Given the description of an element on the screen output the (x, y) to click on. 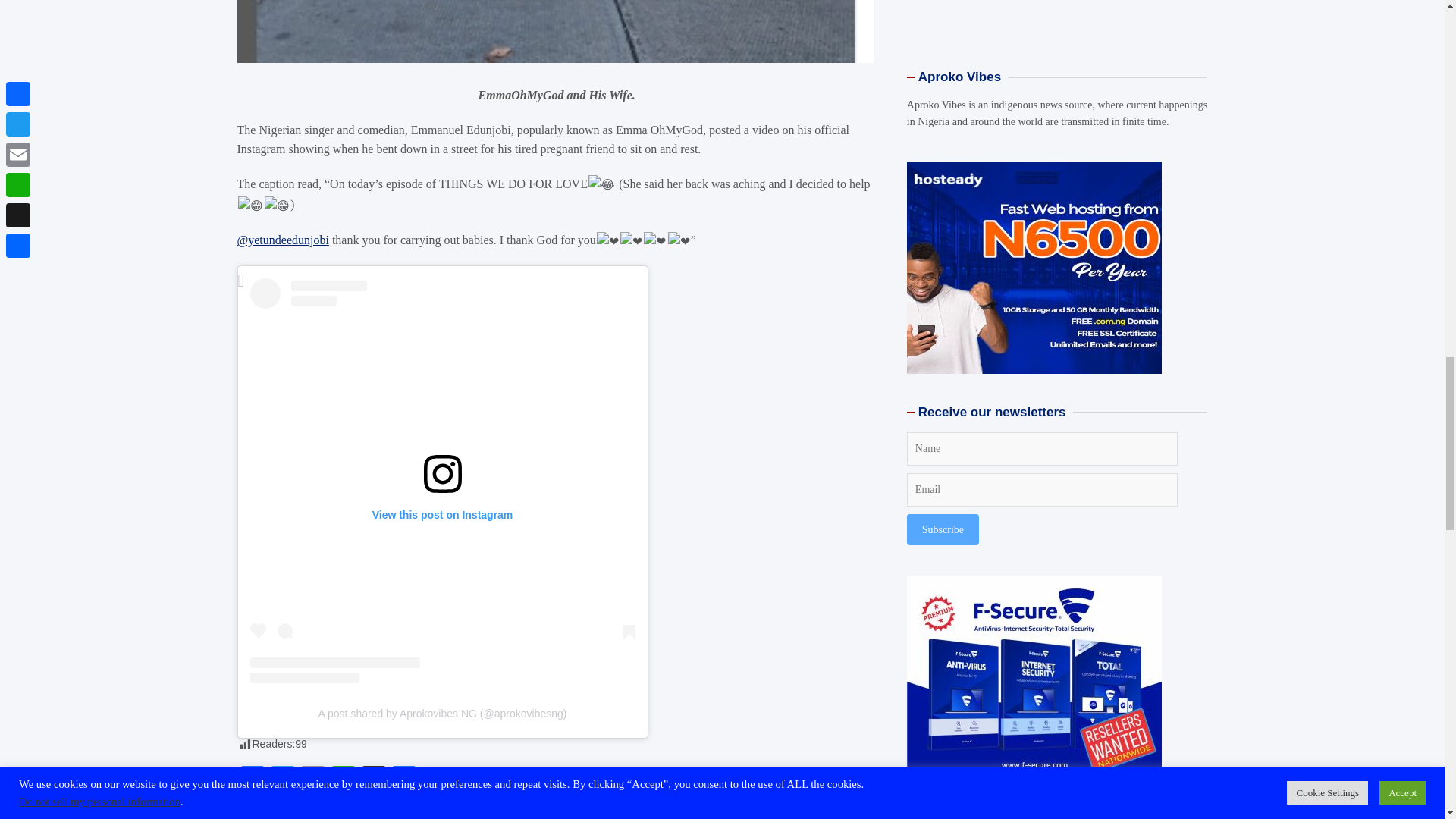
Twitter (281, 779)
Twitter (281, 779)
Digg (373, 779)
Digg (373, 779)
Facebook (250, 779)
Share (403, 779)
Email (312, 779)
WhatsApp (342, 779)
WhatsApp (342, 779)
